Given the description of an element on the screen output the (x, y) to click on. 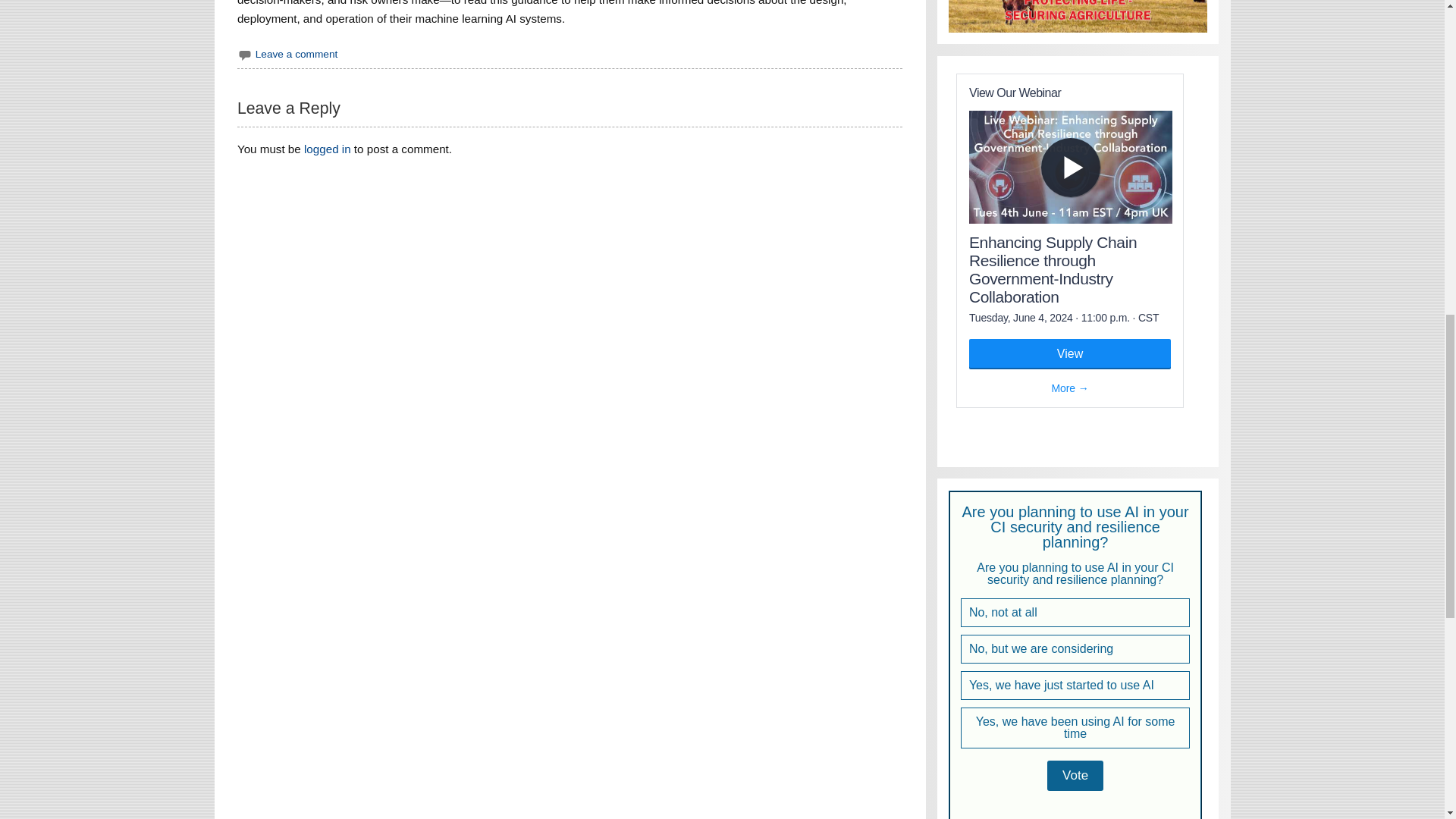
Vote (1074, 775)
logged in (327, 148)
Leave a comment (296, 53)
